Given the description of an element on the screen output the (x, y) to click on. 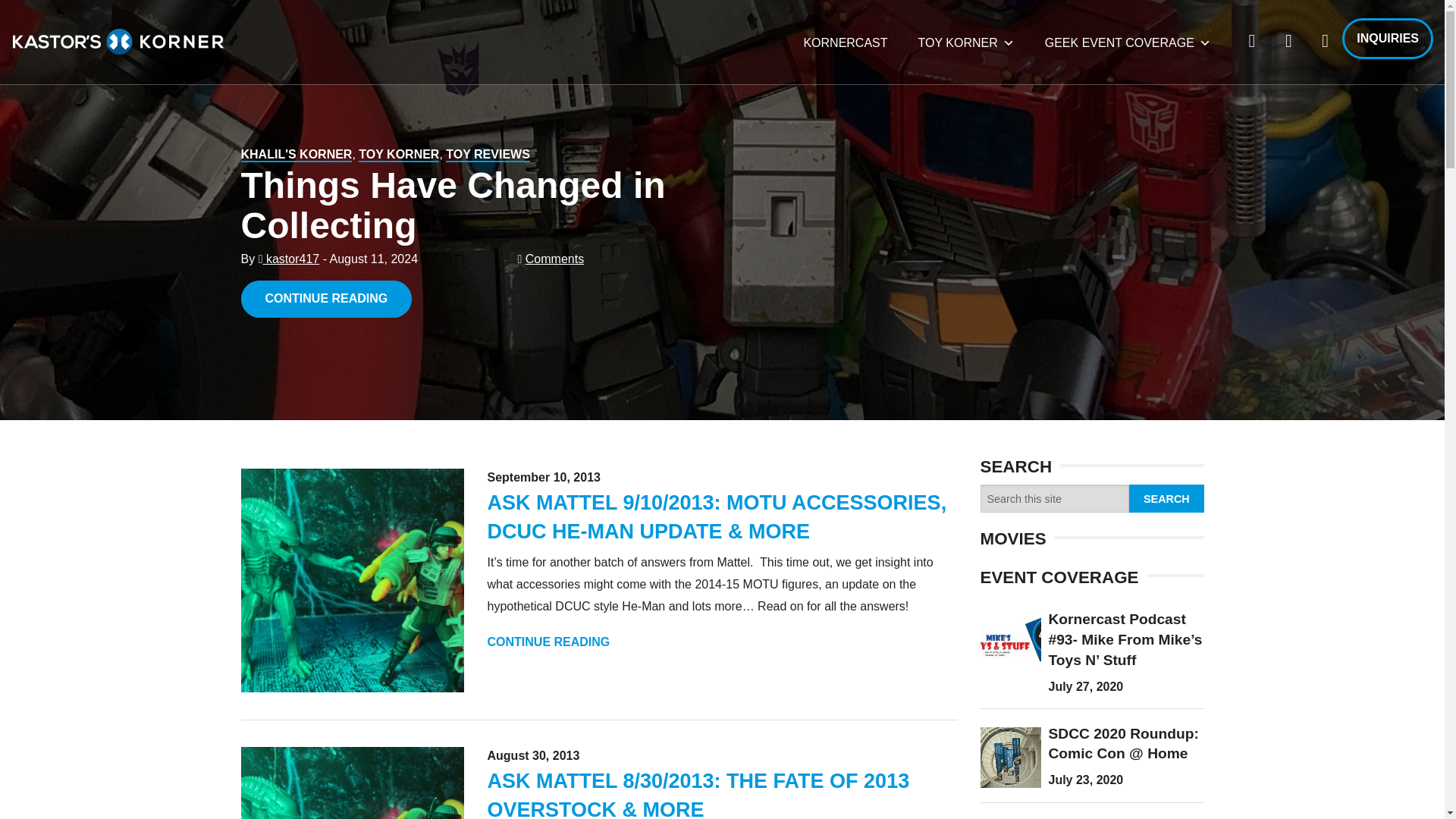
CONTINUE READING (326, 298)
KHALIL'S KORNER (296, 155)
CONTINUE READING (548, 641)
TOY REVIEWS (487, 155)
Search (1166, 498)
TOY KORNER (398, 155)
kastor417 (289, 258)
INQUIRIES (1387, 38)
GEEK EVENT COVERAGE (1127, 42)
Comments (554, 258)
